Given the description of an element on the screen output the (x, y) to click on. 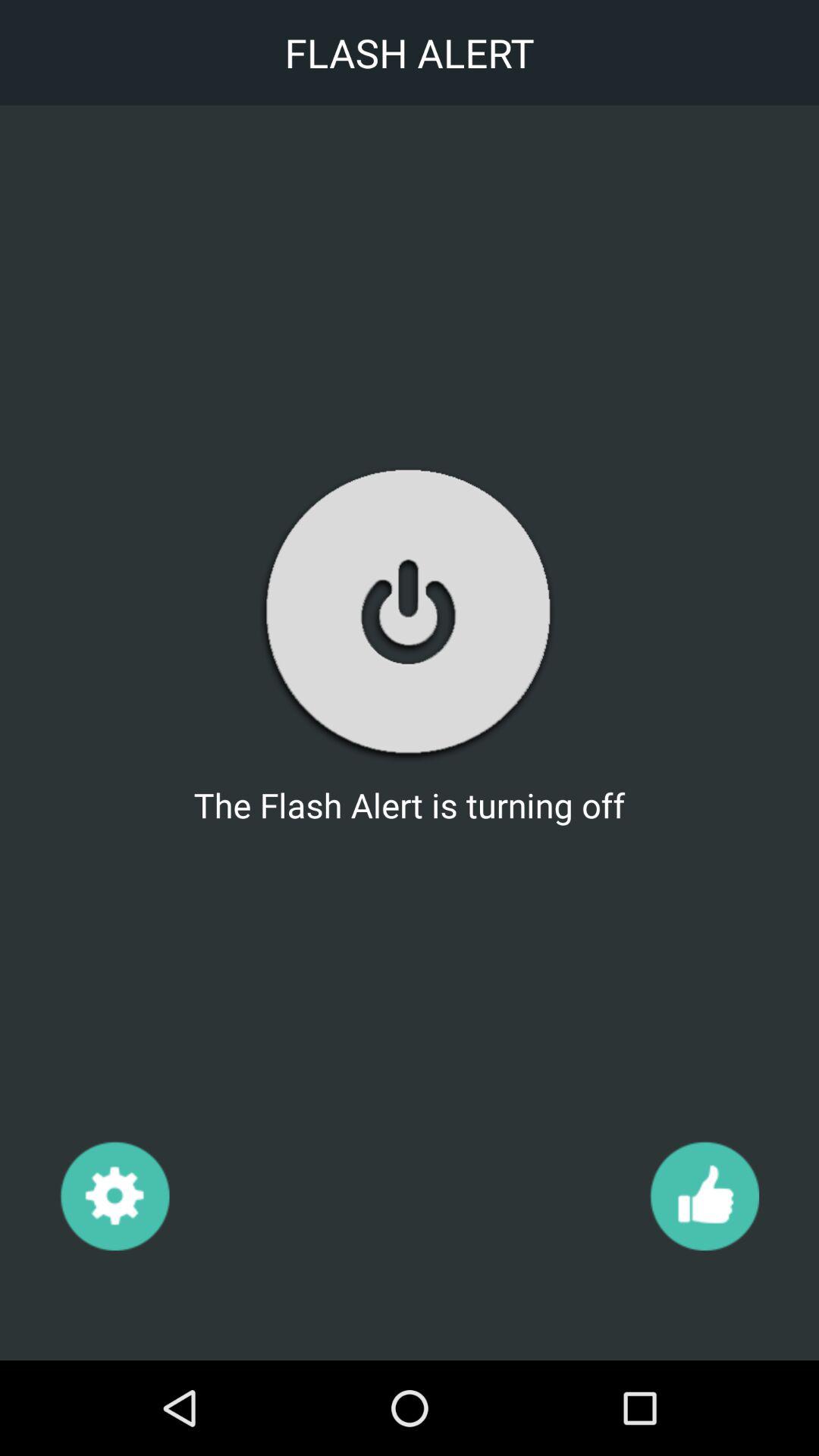
tap to like (704, 1195)
